Given the description of an element on the screen output the (x, y) to click on. 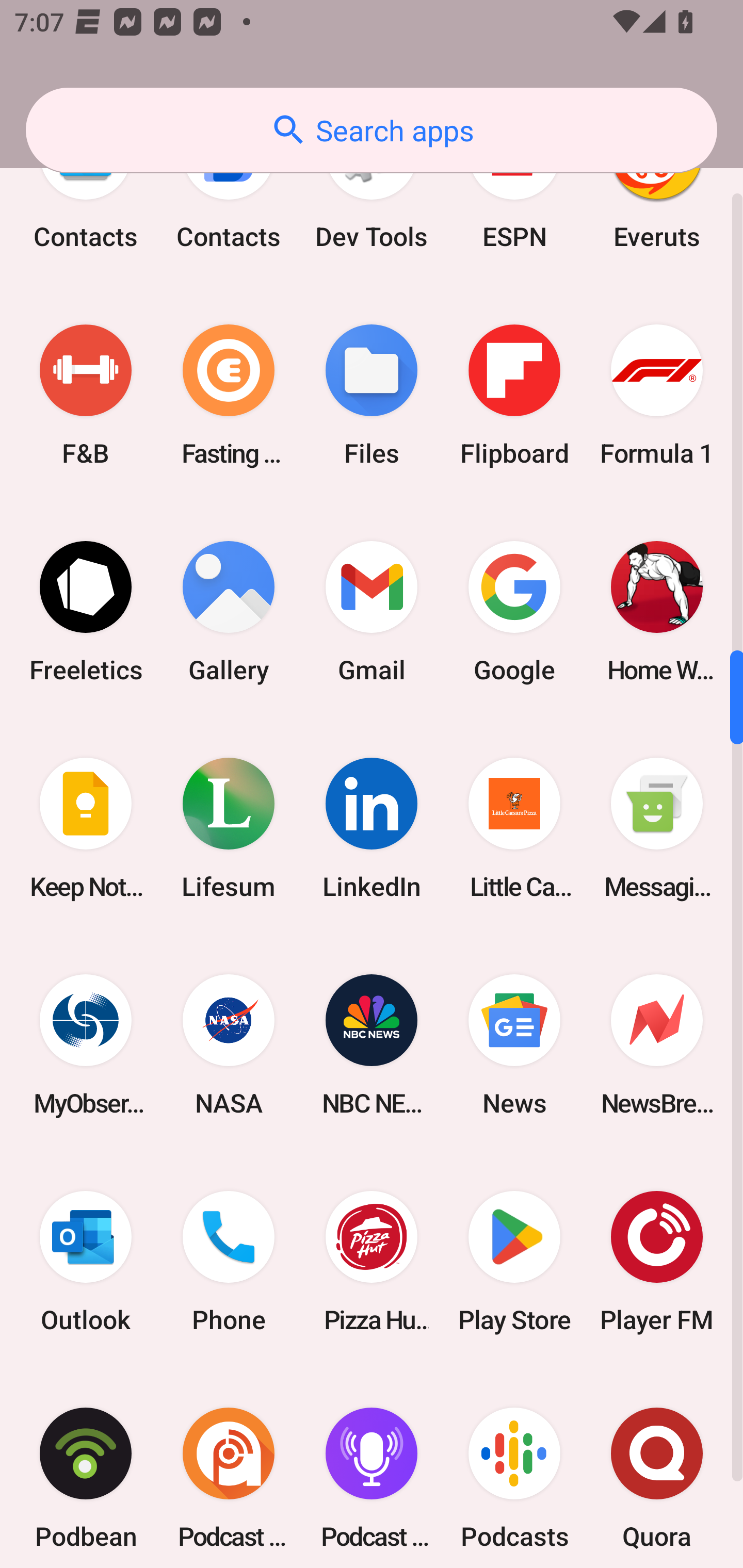
  Search apps (371, 130)
F&B (85, 394)
Fasting Coach (228, 394)
Files (371, 394)
Flipboard (514, 394)
Formula 1 (656, 394)
Freeletics (85, 611)
Gallery (228, 611)
Gmail (371, 611)
Google (514, 611)
Home Workout (656, 611)
Keep Notes (85, 827)
Lifesum (228, 827)
LinkedIn (371, 827)
Little Caesars Pizza (514, 827)
Messaging (656, 827)
MyObservatory (85, 1045)
NASA (228, 1045)
NBC NEWS (371, 1045)
News (514, 1045)
NewsBreak (656, 1045)
Outlook (85, 1262)
Phone (228, 1262)
Pizza Hut HK & Macau (371, 1262)
Play Store (514, 1262)
Player FM (656, 1262)
Podbean (85, 1469)
Podcast Addict (228, 1469)
Podcast Player (371, 1469)
Podcasts (514, 1469)
Quora (656, 1469)
